Given the description of an element on the screen output the (x, y) to click on. 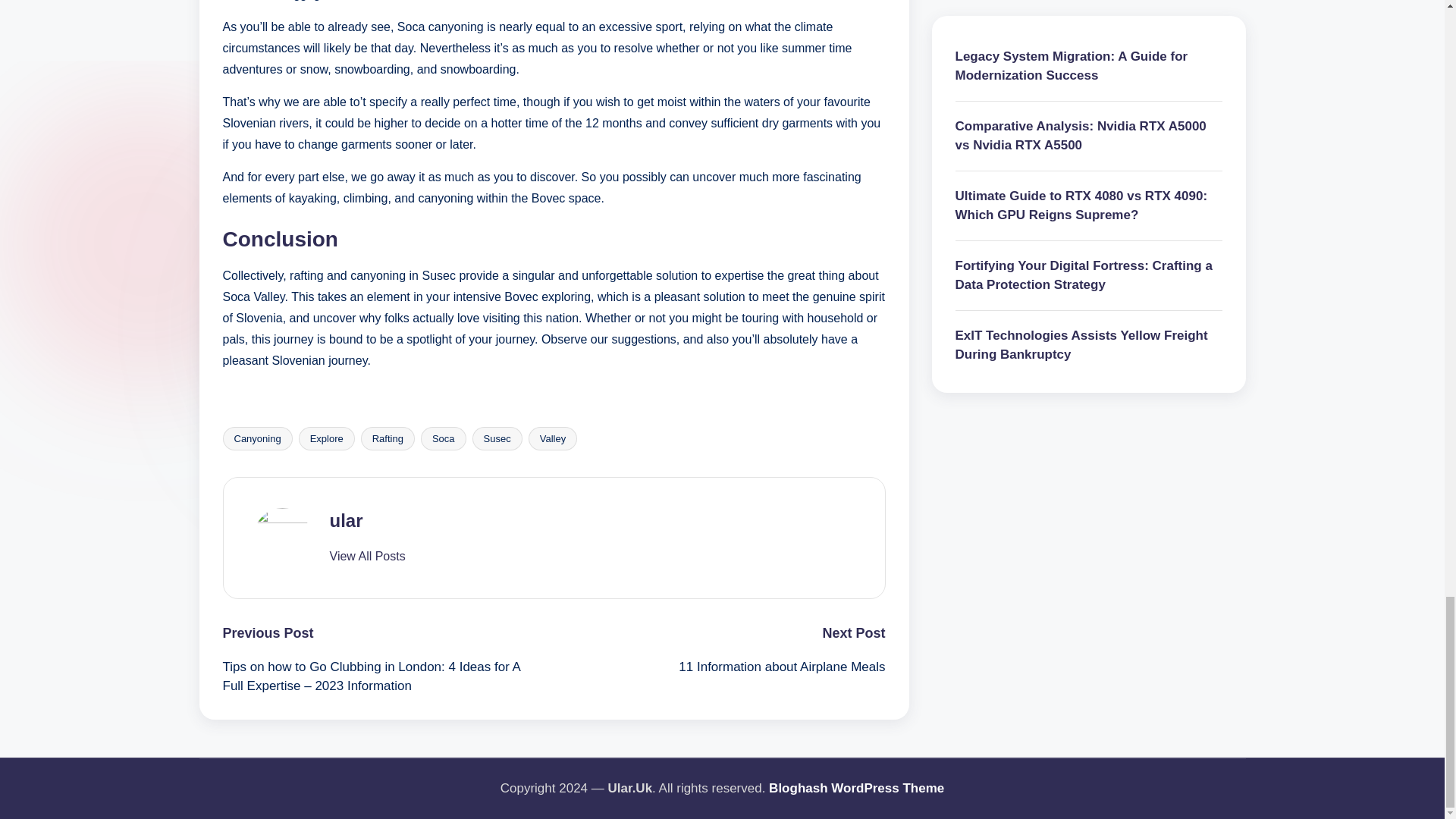
Canyoning (257, 438)
Explore (326, 438)
Susec (496, 438)
ular (345, 520)
Bloghash WordPress Theme (855, 788)
Rafting (387, 438)
View All Posts (366, 556)
11 Information about Airplane Meals (719, 667)
Valley (552, 438)
Soca (442, 438)
